Given the description of an element on the screen output the (x, y) to click on. 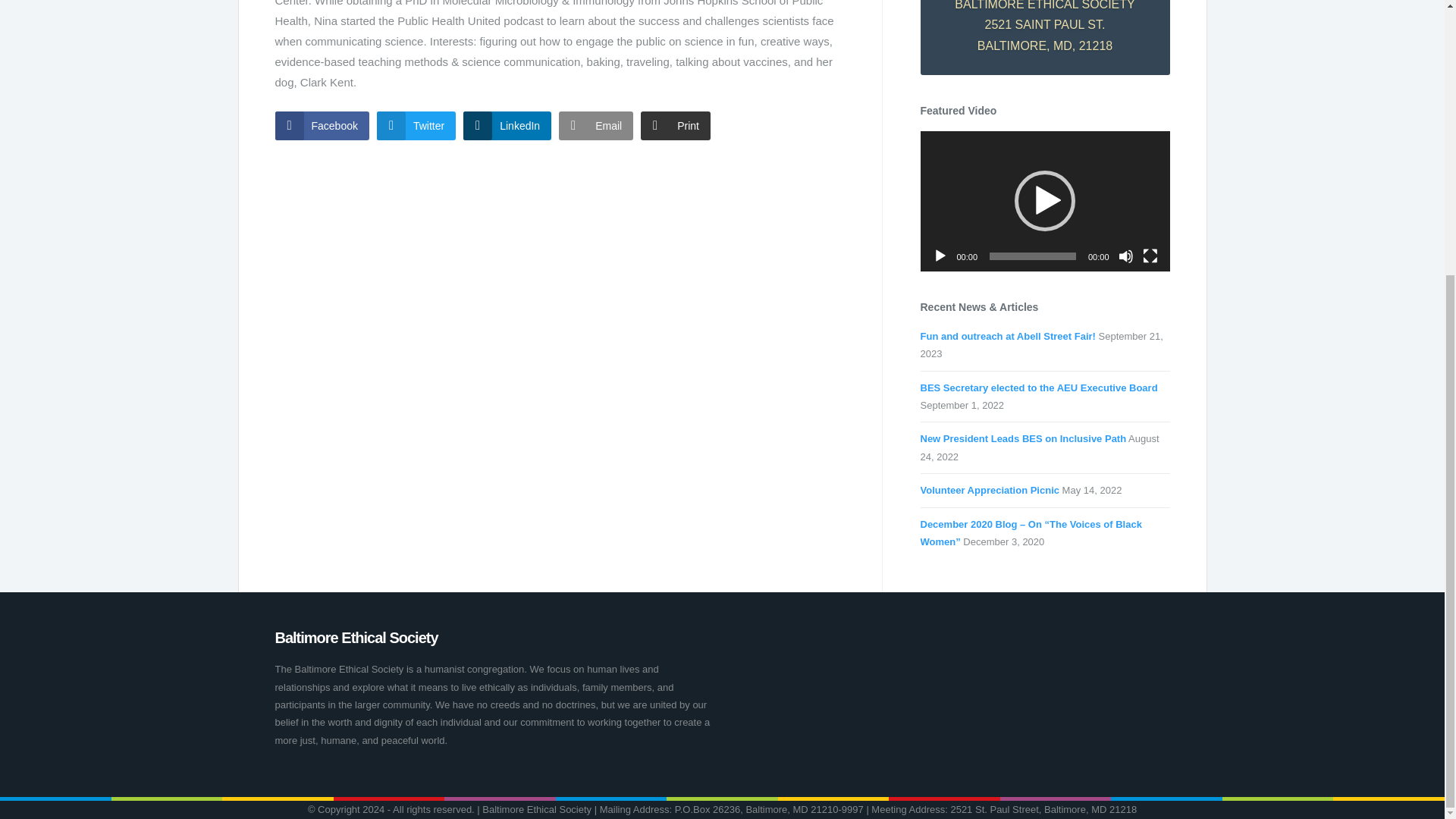
Mute (1125, 255)
Fullscreen (1149, 255)
Play (940, 255)
